Given the description of an element on the screen output the (x, y) to click on. 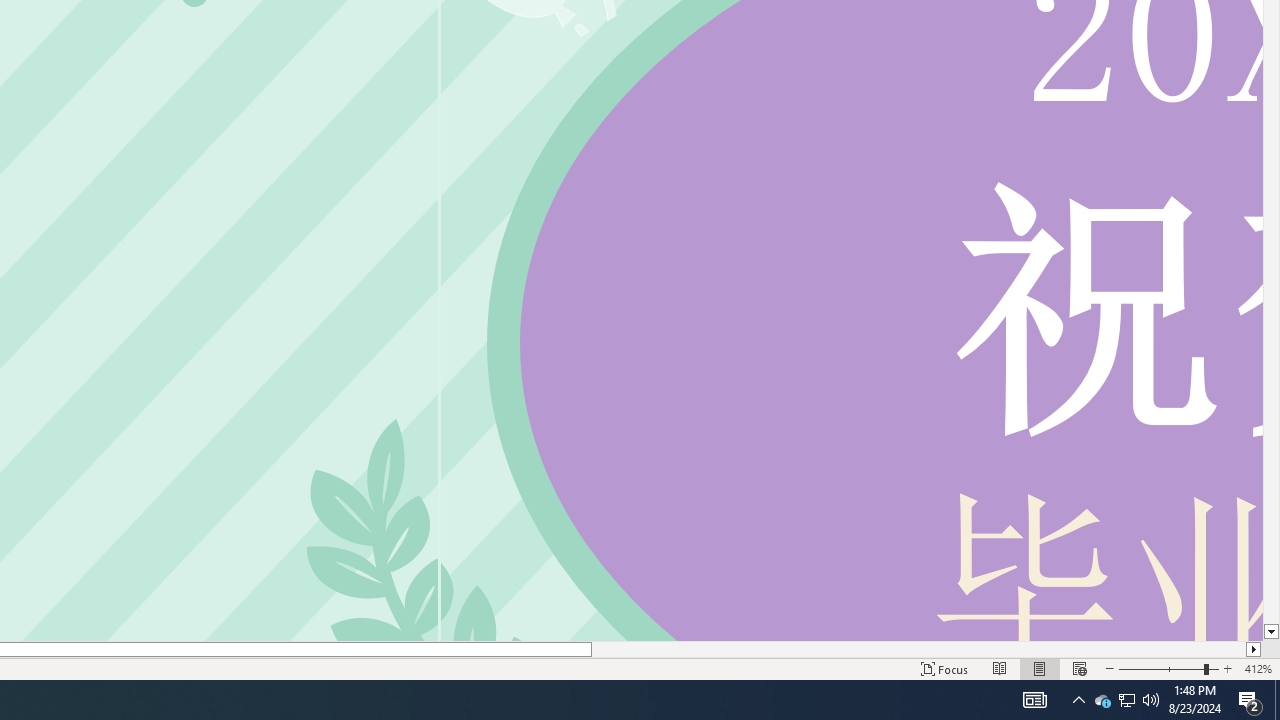
Page right (918, 649)
Line down (1271, 632)
Column right (1254, 649)
